Given the description of an element on the screen output the (x, y) to click on. 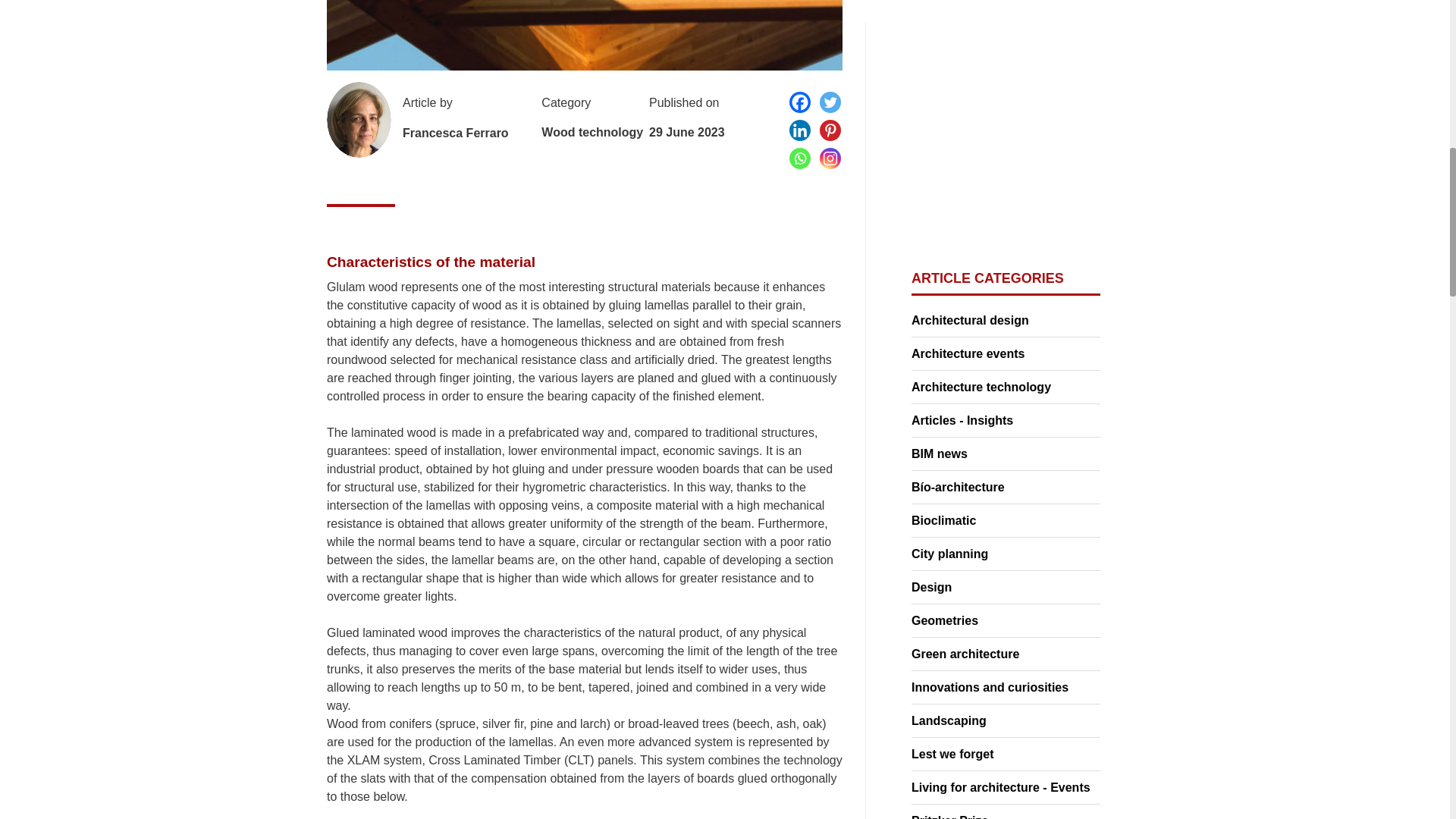
Whatsapp (799, 158)
Facebook (799, 102)
Pinterest (830, 129)
Linkedin (799, 129)
Twitter (830, 102)
Instagram (830, 158)
Posts by Francesca Ferraro (455, 133)
